Given the description of an element on the screen output the (x, y) to click on. 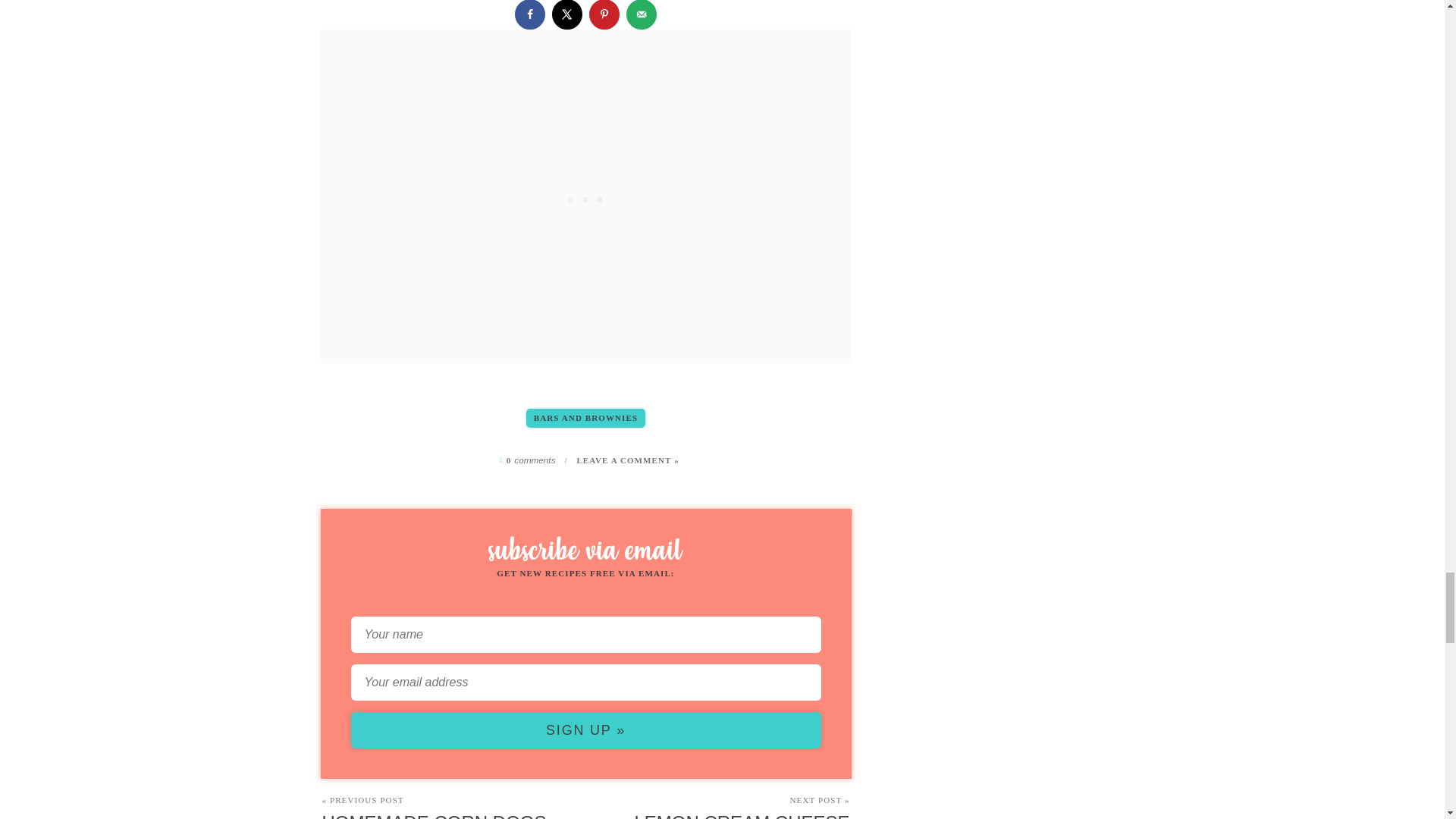
Share on Facebook (529, 14)
Share on X (566, 14)
